Given the description of an element on the screen output the (x, y) to click on. 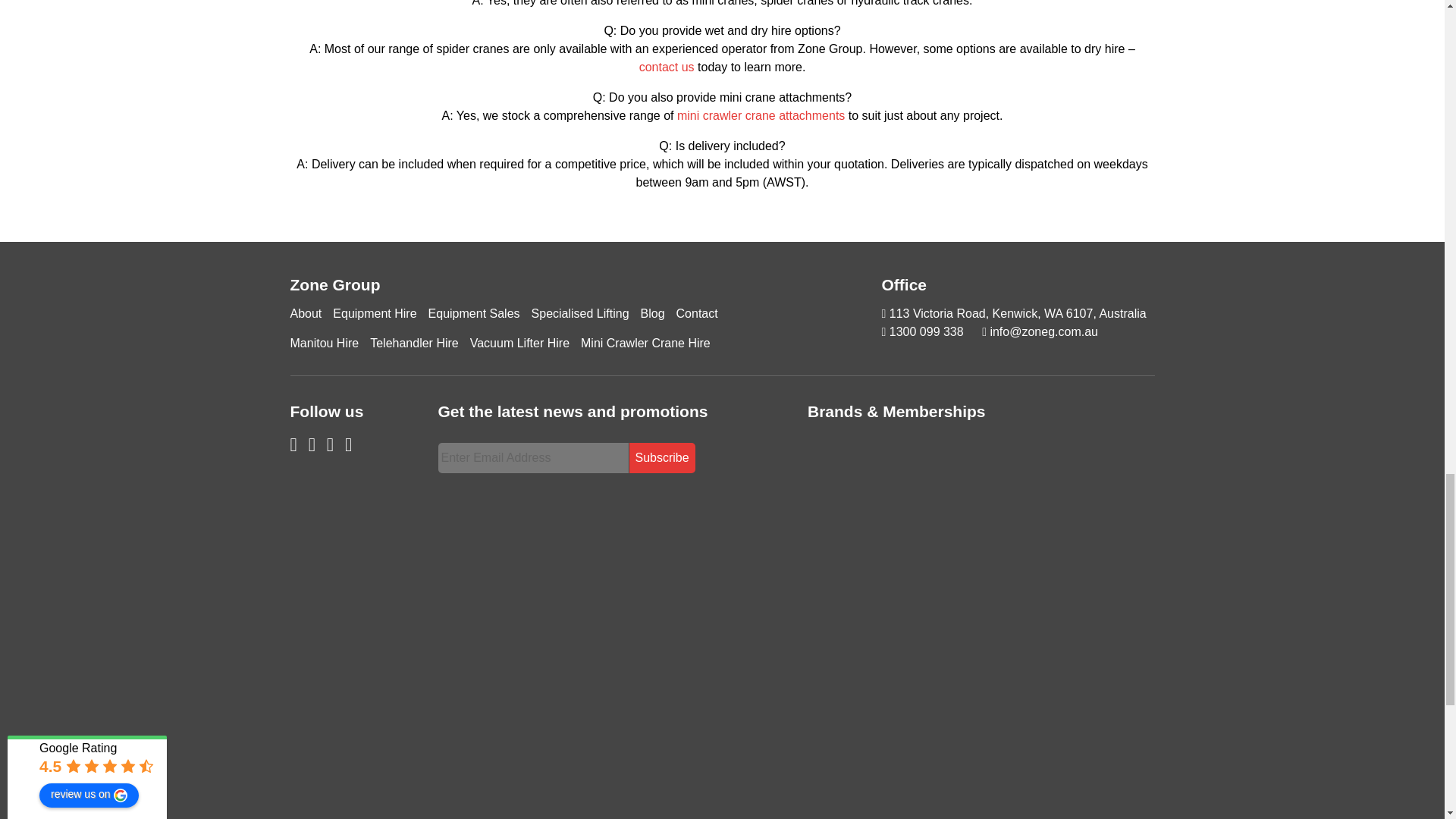
Subscribe (661, 458)
